Given the description of an element on the screen output the (x, y) to click on. 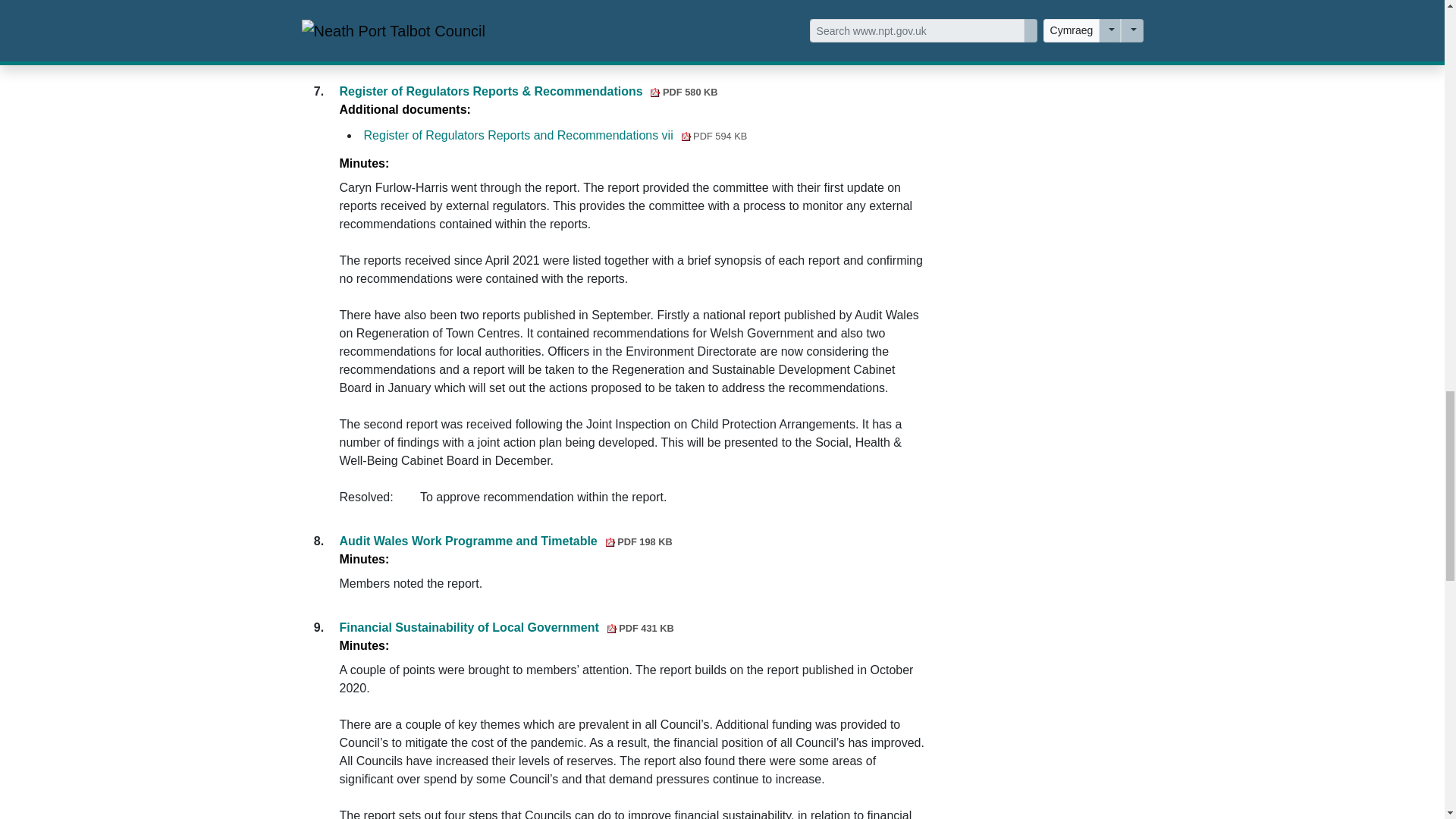
Audit Wales Work Programme and Timetable PDF 198 KB (505, 540)
Financial Sustainability of Local Government PDF 431 KB (506, 626)
